Given the description of an element on the screen output the (x, y) to click on. 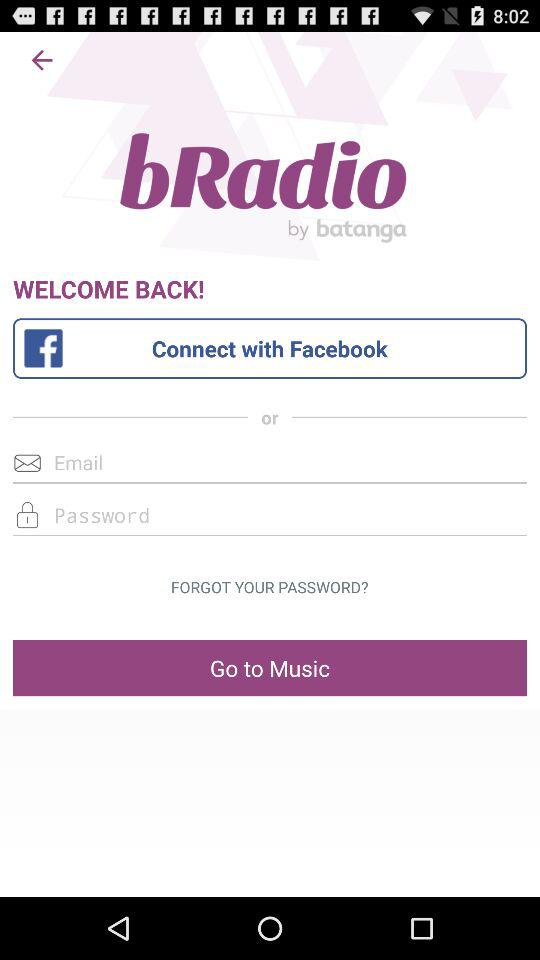
launch the icon above the or icon (269, 348)
